Given the description of an element on the screen output the (x, y) to click on. 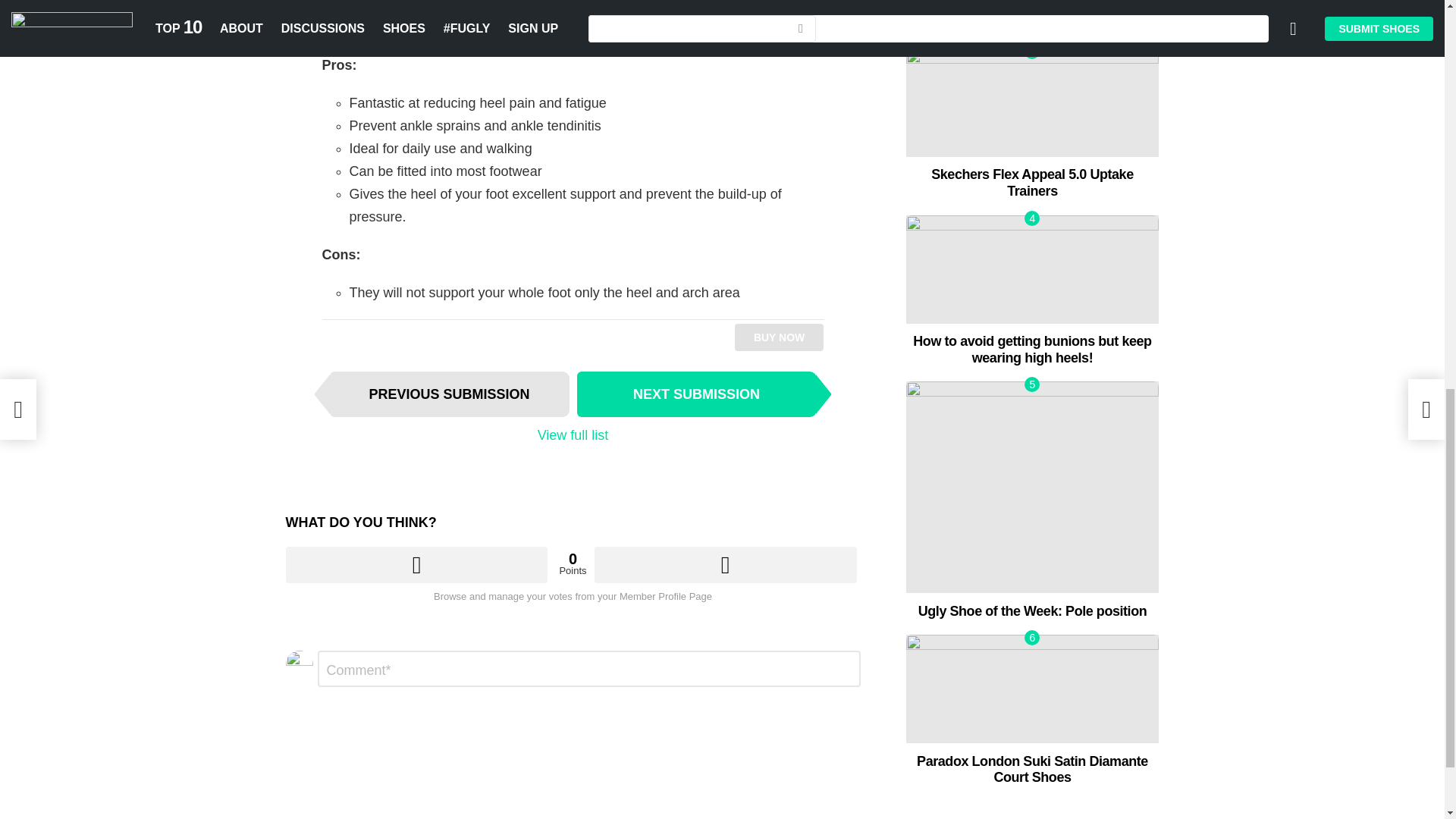
Paradox London Suki Satin Diamante Court Shoes (1031, 688)
BUY NOW (779, 337)
Handpicked selection of the best insoles for flat feet (1032, 16)
How to avoid getting bunions but keep wearing high heels! (1031, 269)
PREVIOUS SUBMISSION (449, 393)
Downvote (725, 565)
Skechers Flex Appeal 5.0 Uptake Trainers (1032, 183)
Upvote (416, 565)
NEXT SUBMISSION (695, 393)
Skechers Flex Appeal 5.0 Uptake Trainers (1031, 102)
